Given the description of an element on the screen output the (x, y) to click on. 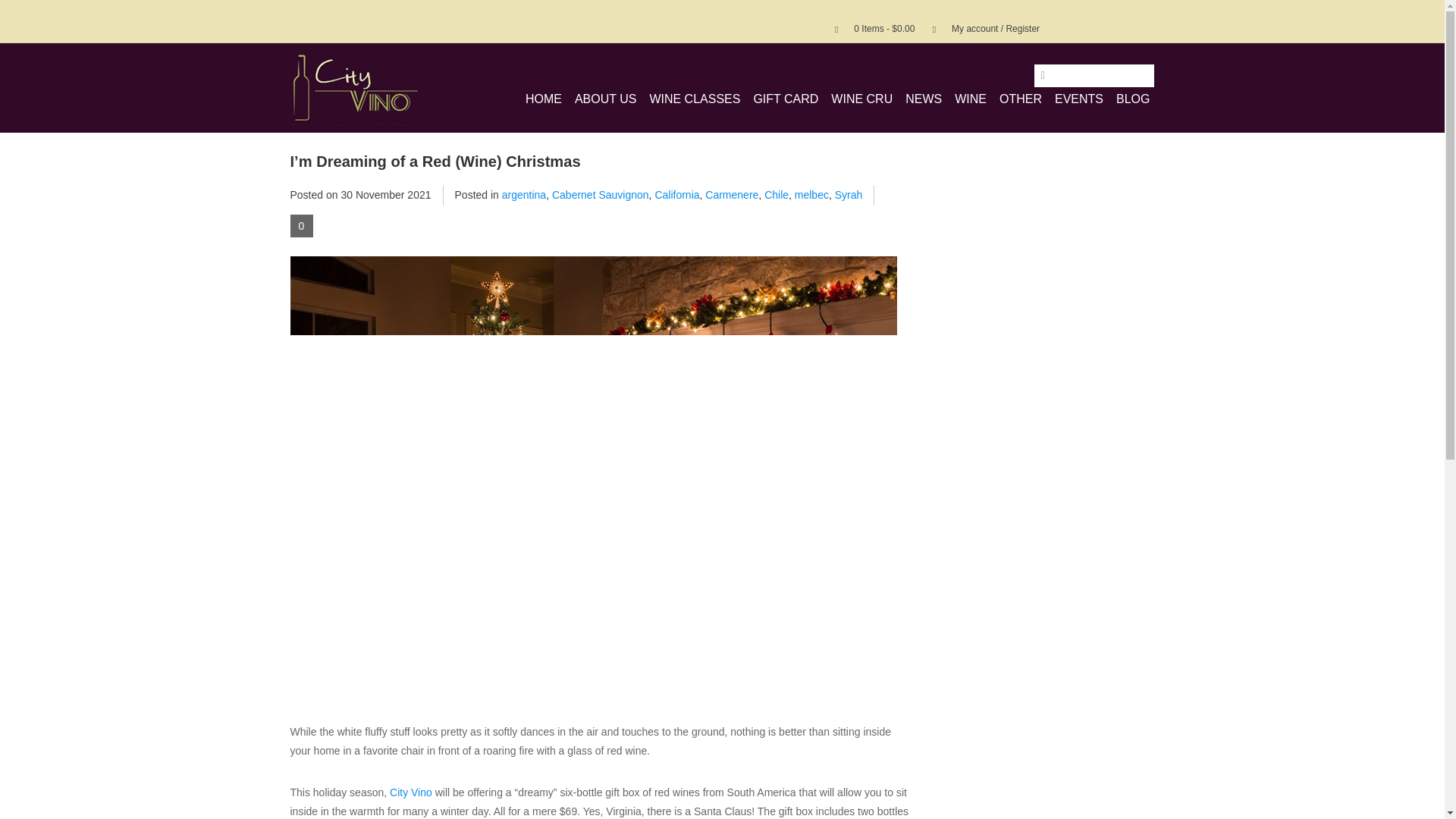
EVENTS (1078, 98)
melbec (811, 194)
City Vino (355, 87)
My account (979, 28)
Syrah (848, 194)
Wine (970, 98)
Other (1020, 98)
ABOUT US (606, 98)
Cart (868, 28)
Chile (776, 194)
HOME (543, 98)
Instagram City Vino, Inc.  (1141, 19)
BLOG (1133, 98)
California (675, 194)
WINE (970, 98)
